Given the description of an element on the screen output the (x, y) to click on. 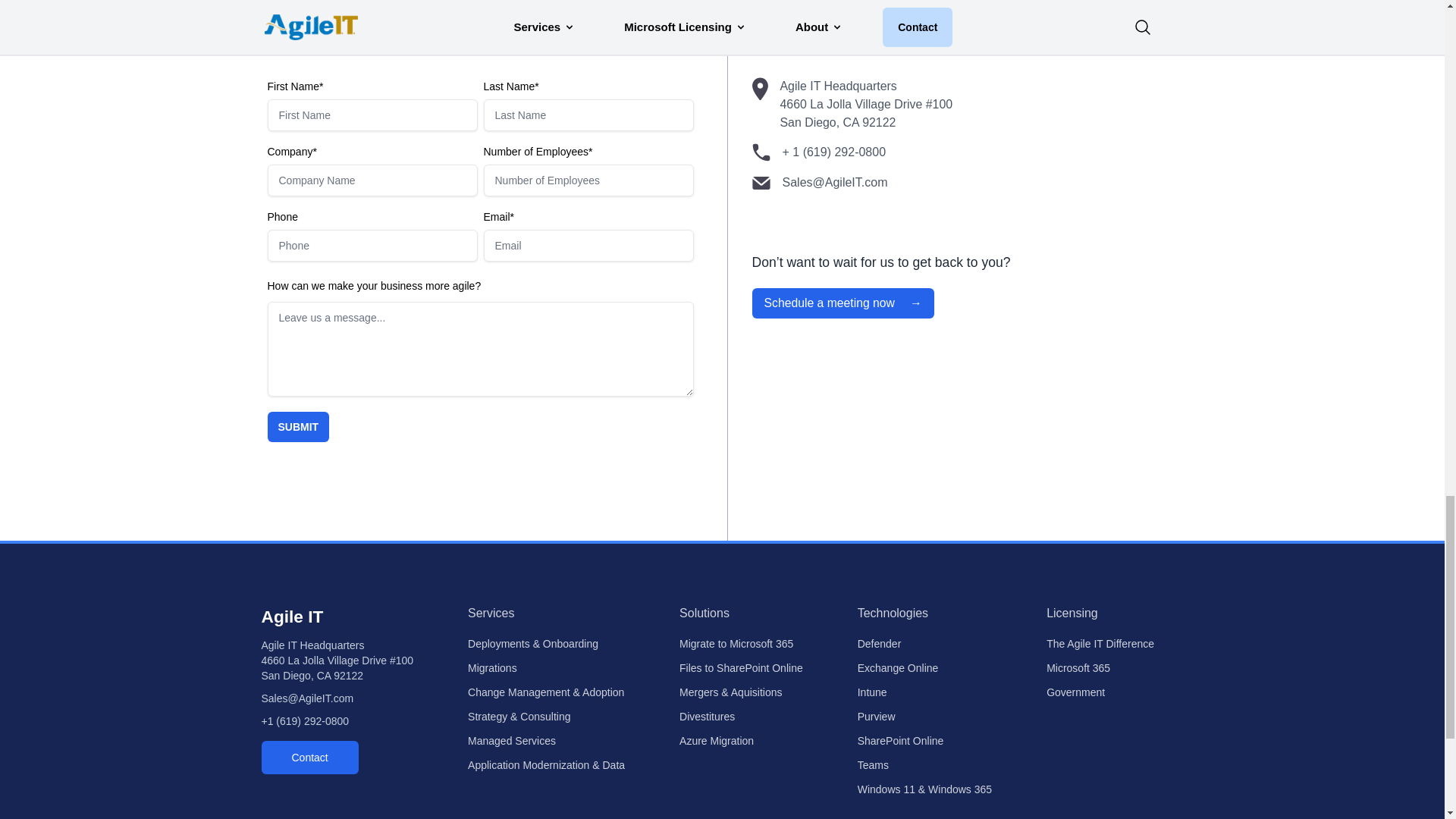
SUBMIT (297, 426)
